Given the description of an element on the screen output the (x, y) to click on. 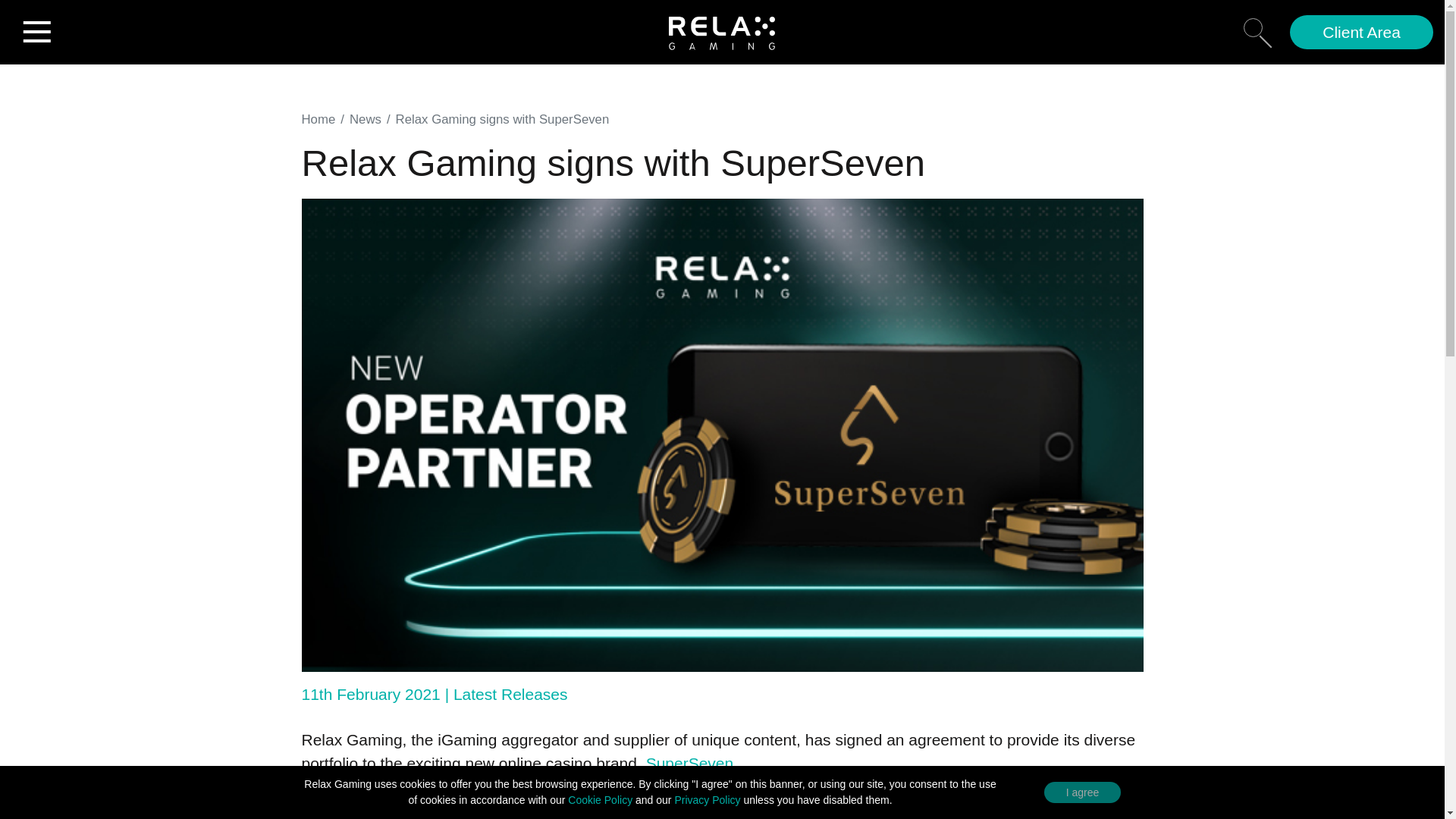
Client Area (1361, 32)
News (365, 119)
SuperSeven (689, 763)
Home (318, 119)
